Given the description of an element on the screen output the (x, y) to click on. 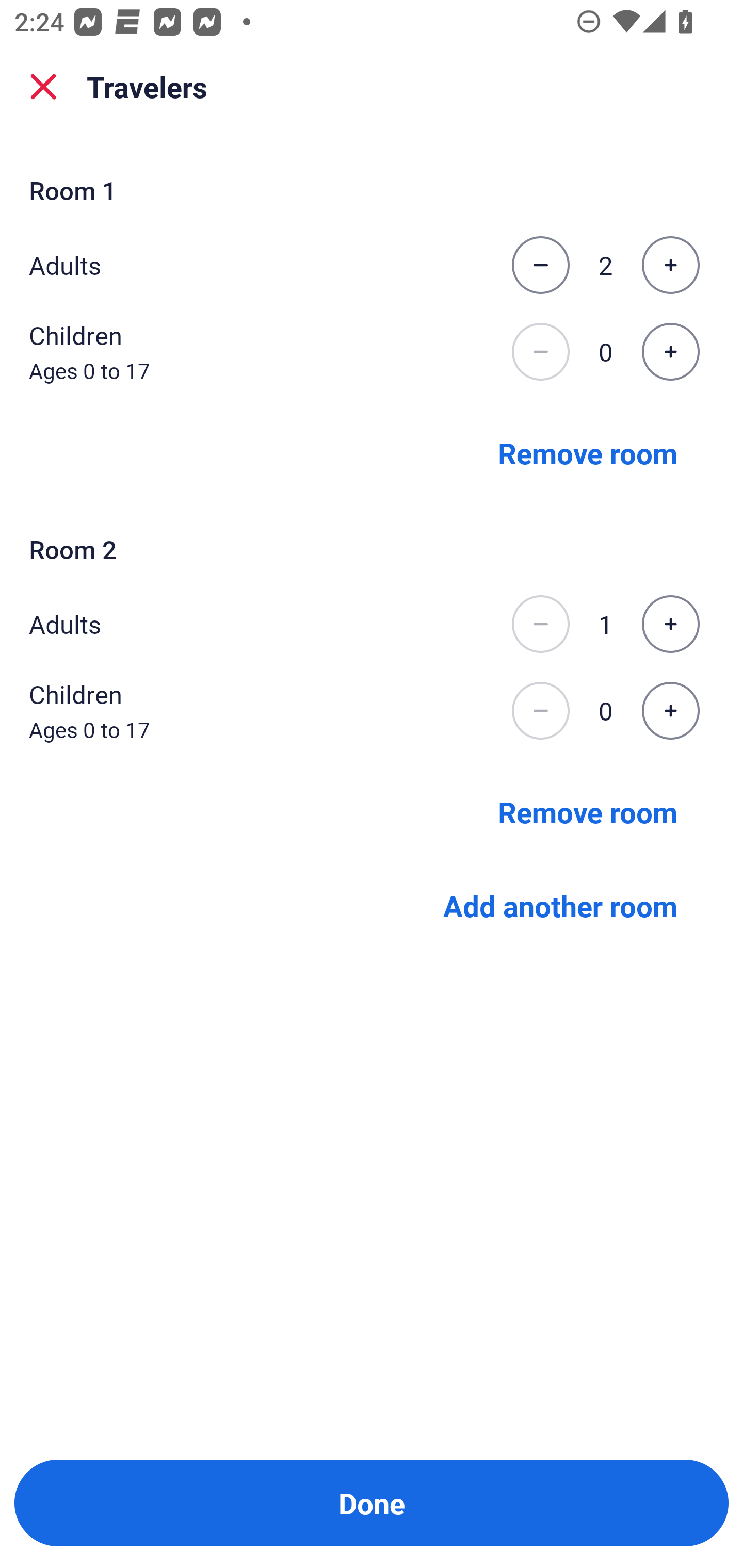
close (43, 86)
Decrease the number of adults (540, 264)
Increase the number of adults (670, 264)
Decrease the number of children (540, 351)
Increase the number of children (670, 351)
Remove room (588, 452)
Decrease the number of adults (540, 623)
Increase the number of adults (670, 623)
Decrease the number of children (540, 710)
Increase the number of children (670, 710)
Remove room (588, 811)
Add another room (560, 905)
Done (371, 1502)
